Given the description of an element on the screen output the (x, y) to click on. 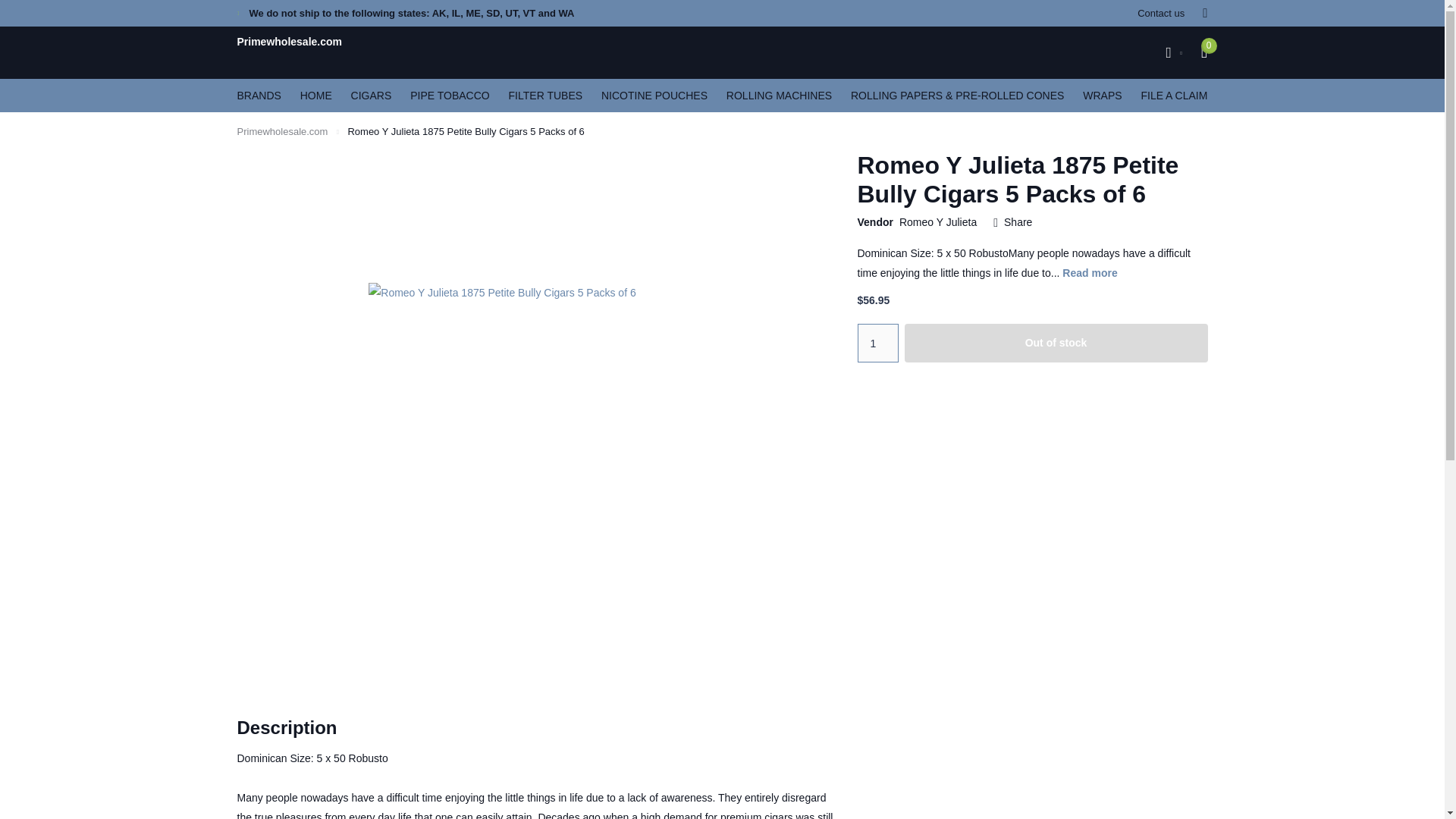
HOME (315, 95)
1 (877, 342)
BRANDS (258, 95)
CIGARS (370, 95)
0 (1204, 52)
Home (281, 131)
Contact us (1161, 13)
